Given the description of an element on the screen output the (x, y) to click on. 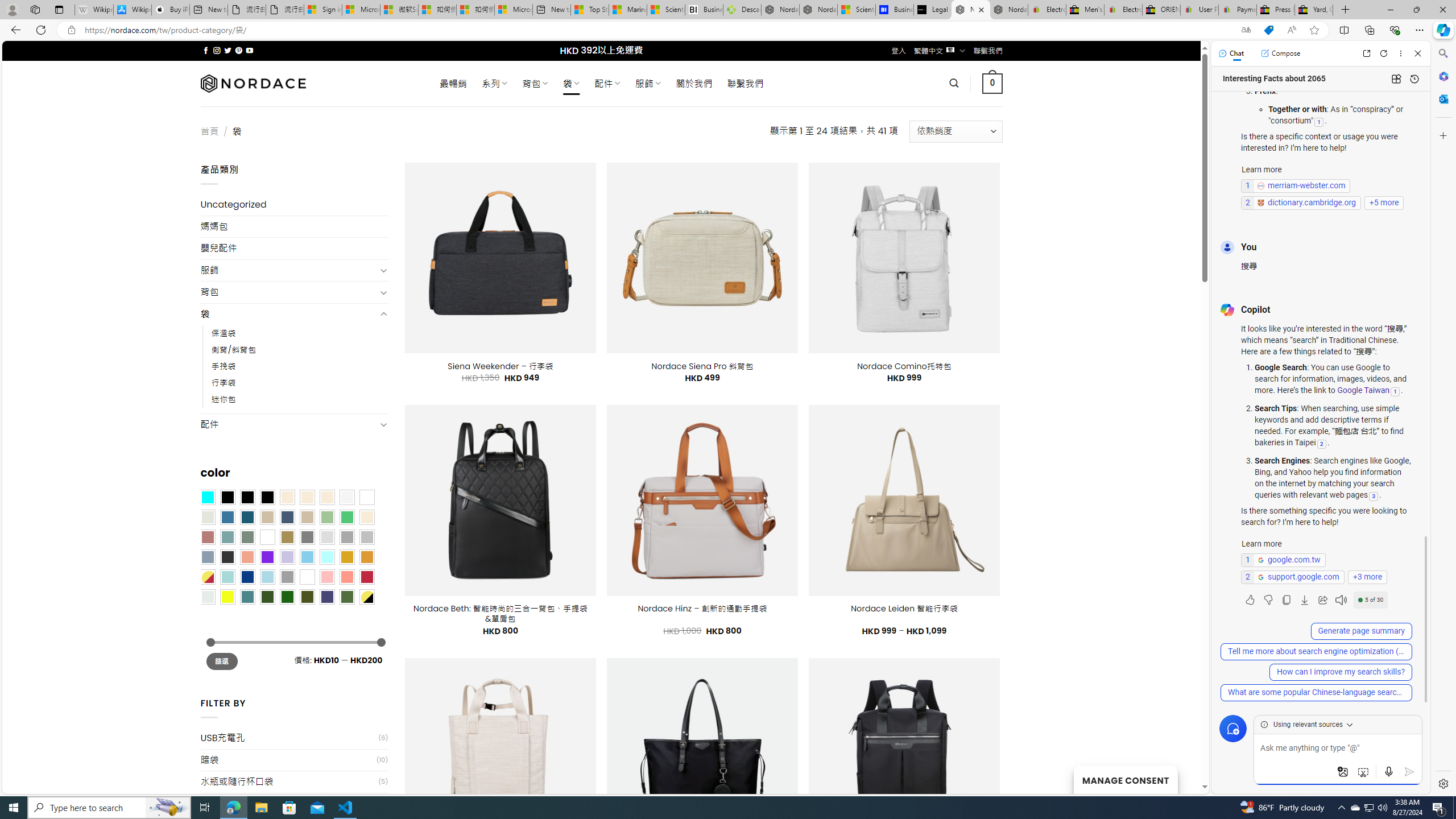
Buy iPad - Apple (171, 9)
